Given the description of an element on the screen output the (x, y) to click on. 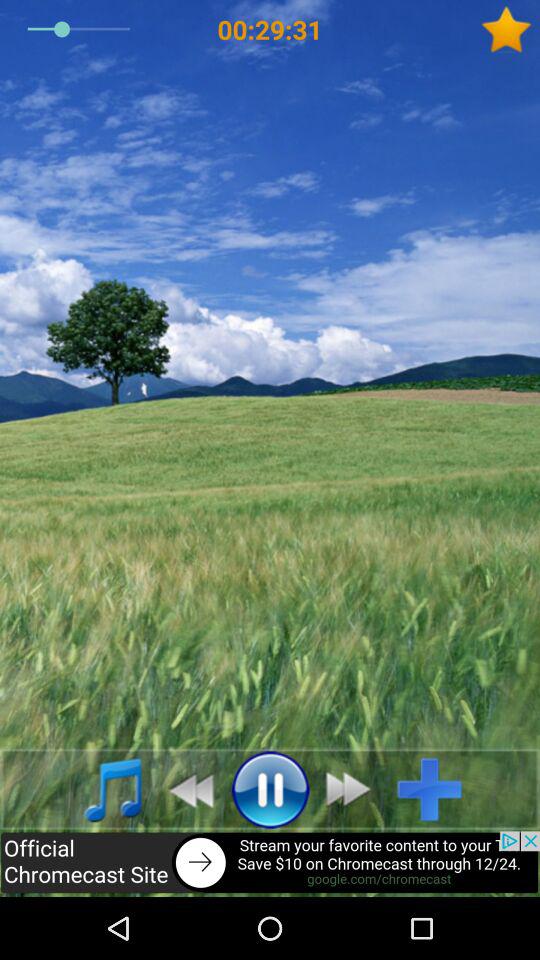
add to favourite (510, 29)
